Given the description of an element on the screen output the (x, y) to click on. 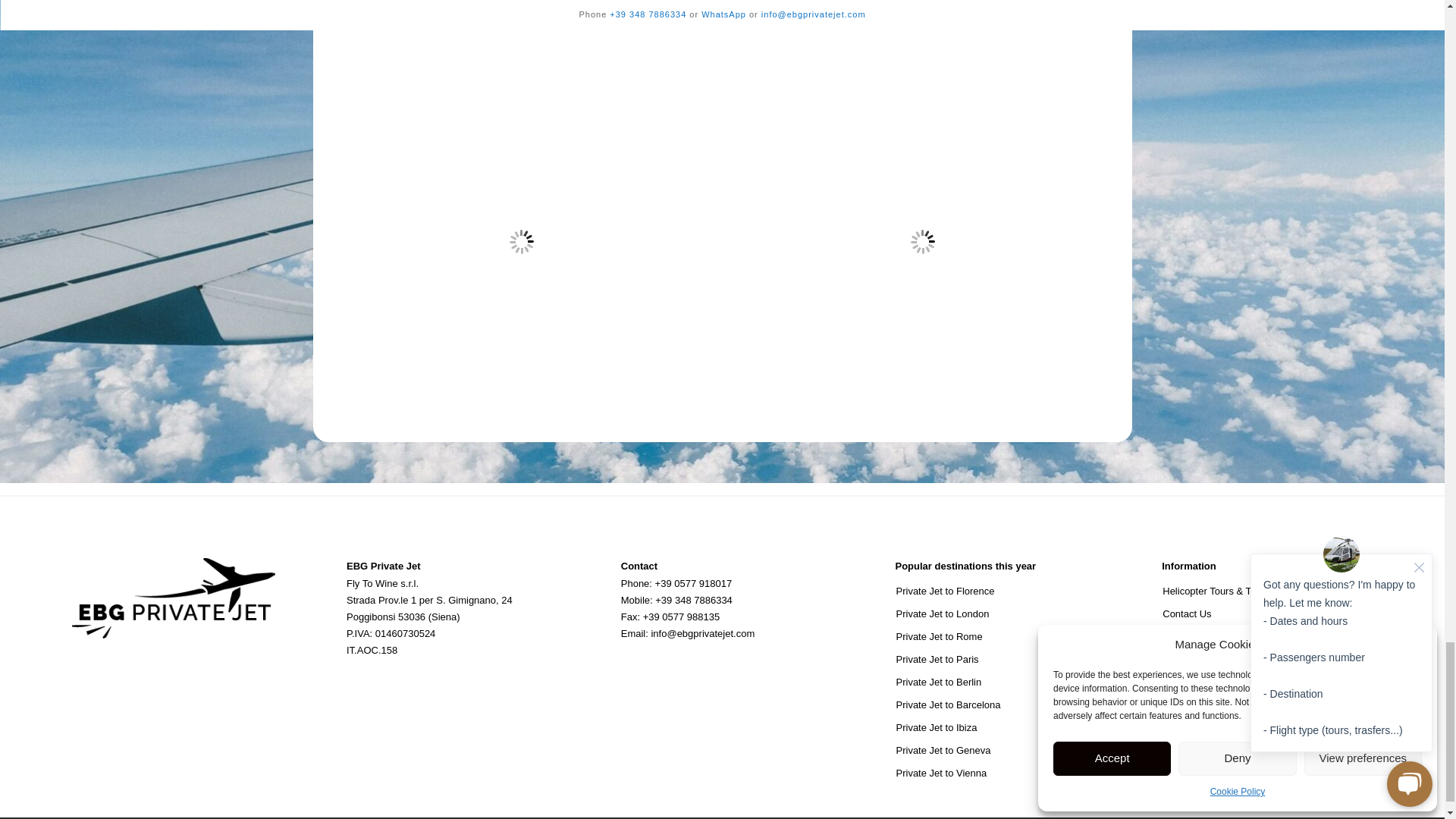
Private Jet to Paris (1000, 659)
yyyt (520, 241)
Private Jet to Florence (1000, 591)
Private Jet to Rome (1000, 636)
CONTACT US (981, 4)
ryrt (922, 241)
Private Jet to London (1000, 613)
